Given the description of an element on the screen output the (x, y) to click on. 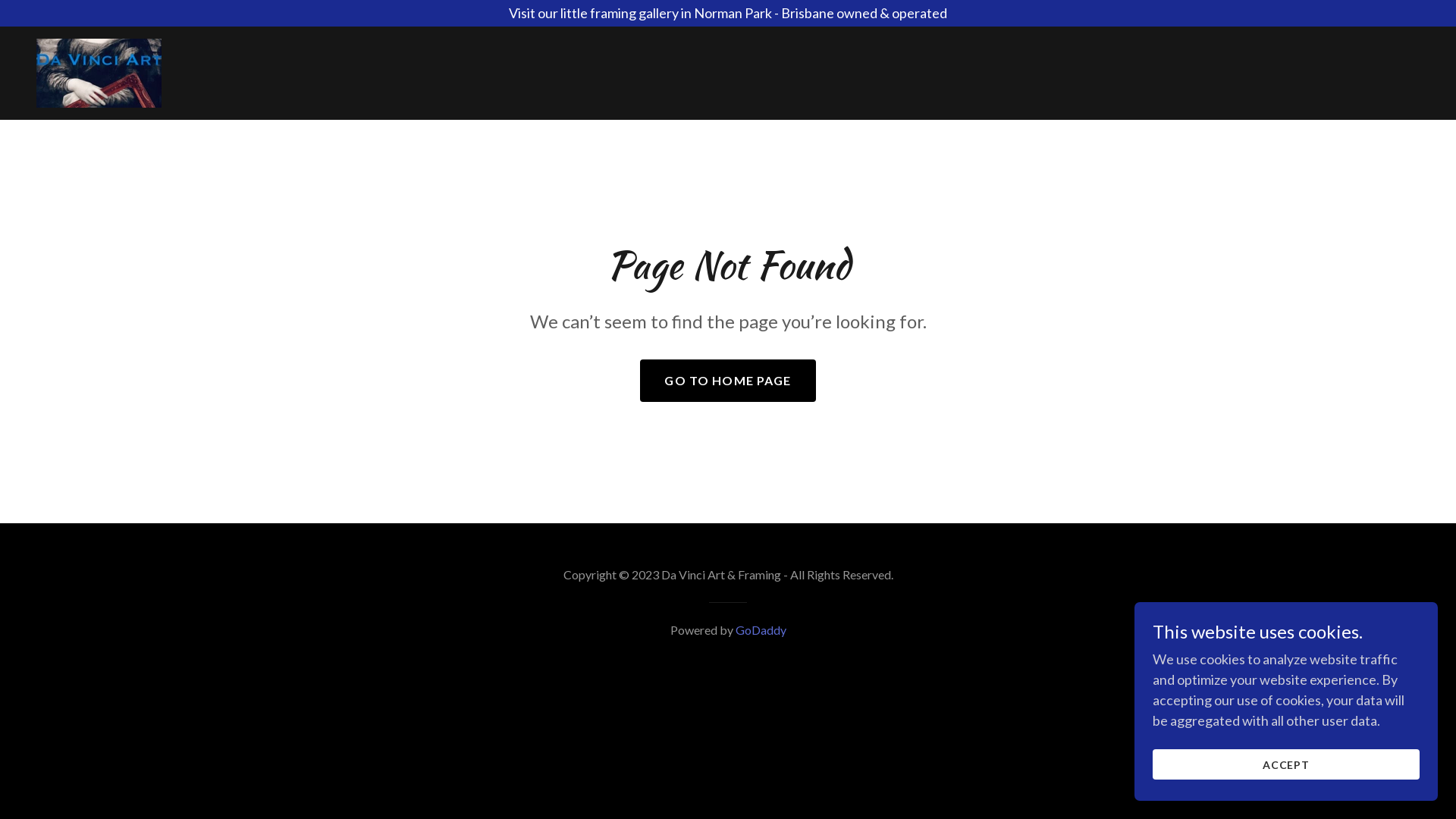
GO TO HOME PAGE Element type: text (727, 380)
ACCEPT Element type: text (1285, 764)
GoDaddy Element type: text (760, 629)
Da Vinci Art Element type: hover (98, 70)
